Given the description of an element on the screen output the (x, y) to click on. 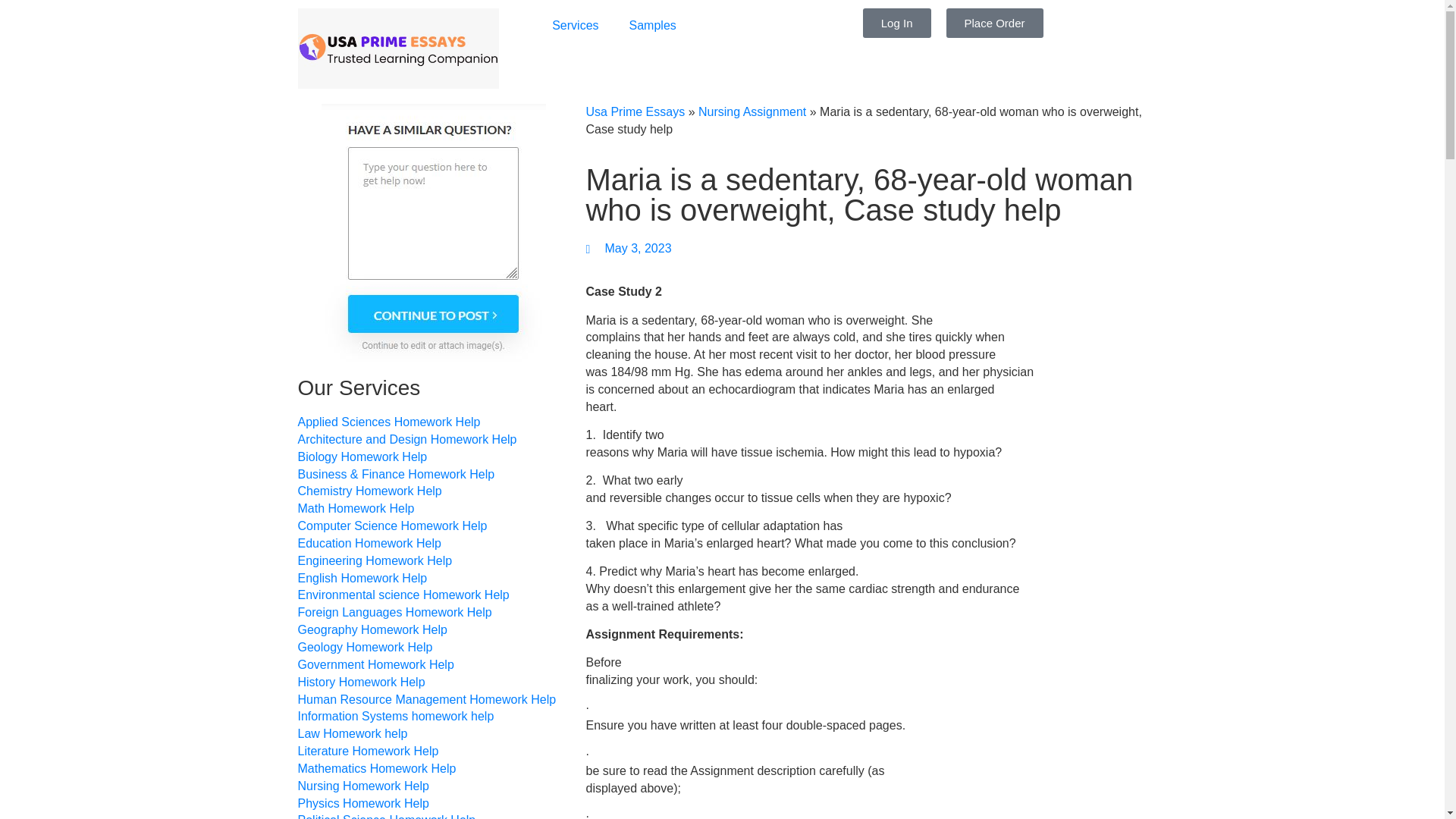
Chemistry Homework Help (369, 491)
Math Homework Help (355, 508)
Government Homework Help (374, 665)
Architecture and Design Homework Help (406, 439)
Law Homework help (352, 733)
History Homework Help (361, 682)
Political Science Homework Help (386, 815)
Education Homework Help (369, 543)
Literature Homework Help (367, 751)
Computer Science Homework Help (391, 526)
Geology Homework Help (364, 647)
Information Systems homework help (395, 716)
Applied Sciences Homework Help (388, 422)
English Homework Help (361, 579)
Physics Homework Help (362, 804)
